Given the description of an element on the screen output the (x, y) to click on. 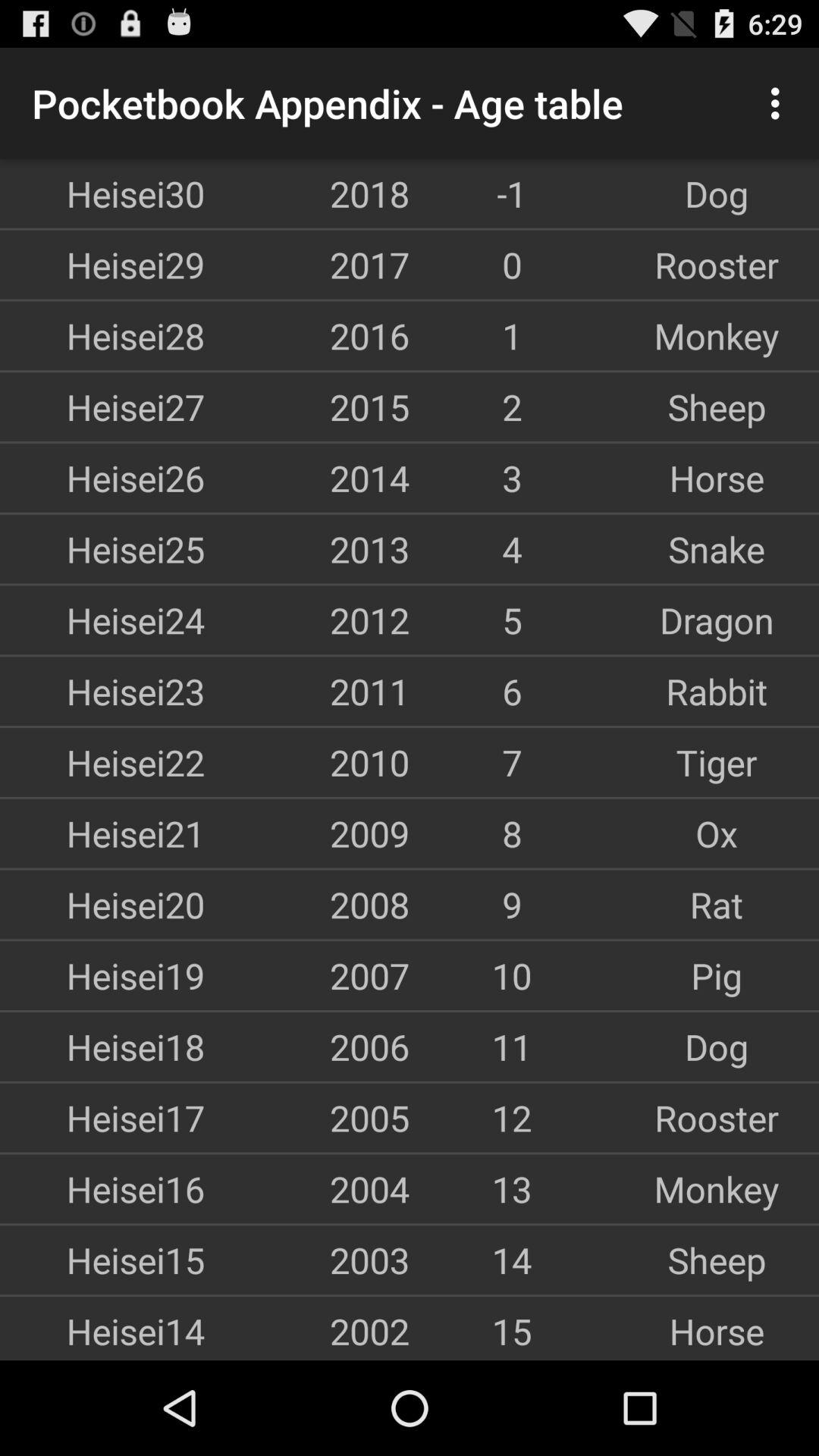
select the heisei30 item (102, 193)
